Given the description of an element on the screen output the (x, y) to click on. 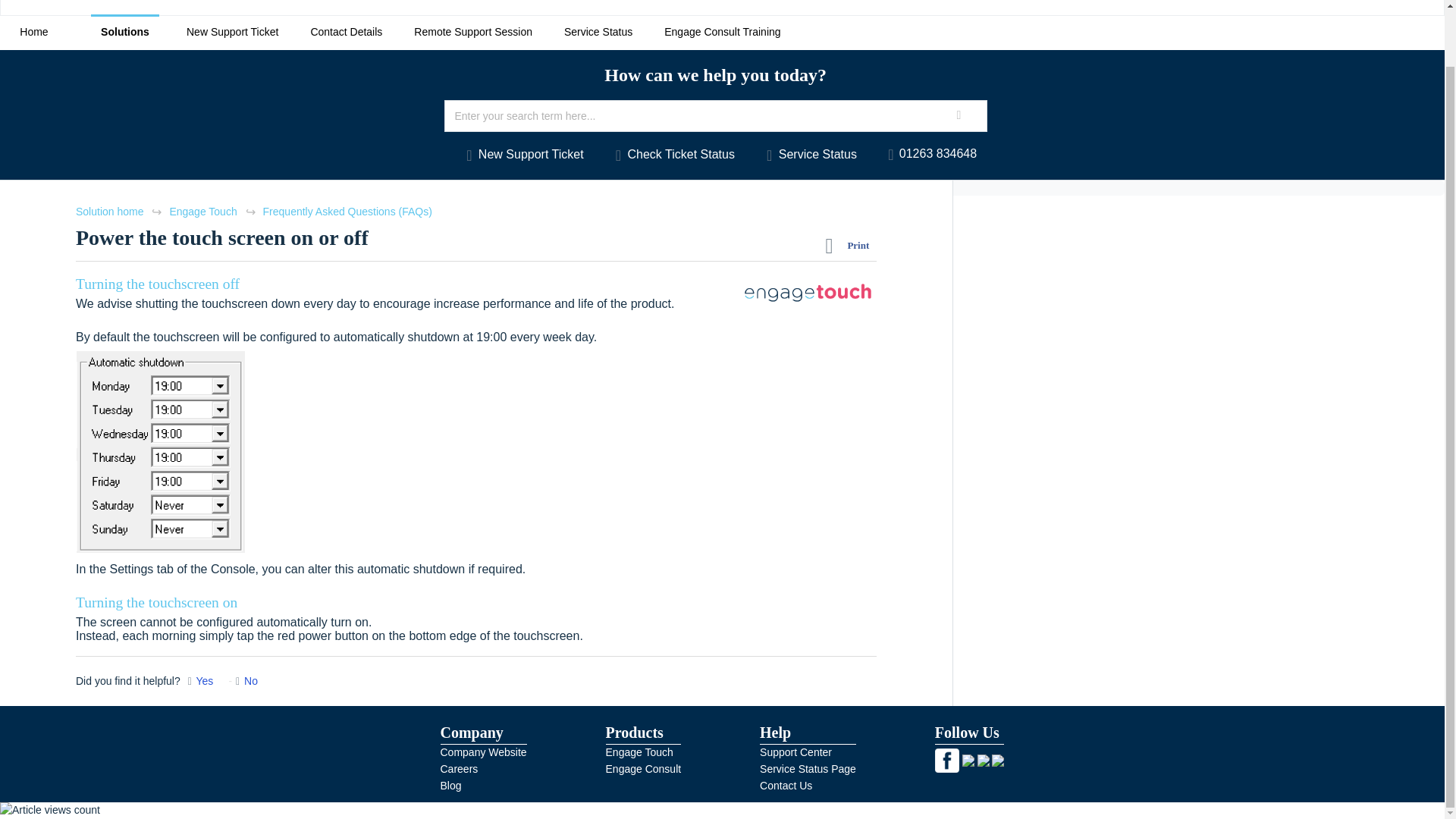
Home (34, 31)
Engage Consult Training (721, 31)
Solution home (111, 211)
Check service status (808, 154)
New Support Ticket (521, 154)
Service Status (808, 154)
Blog (450, 785)
Support Center (795, 752)
Engage Touch (638, 752)
01263 834648 (929, 154)
